Given the description of an element on the screen output the (x, y) to click on. 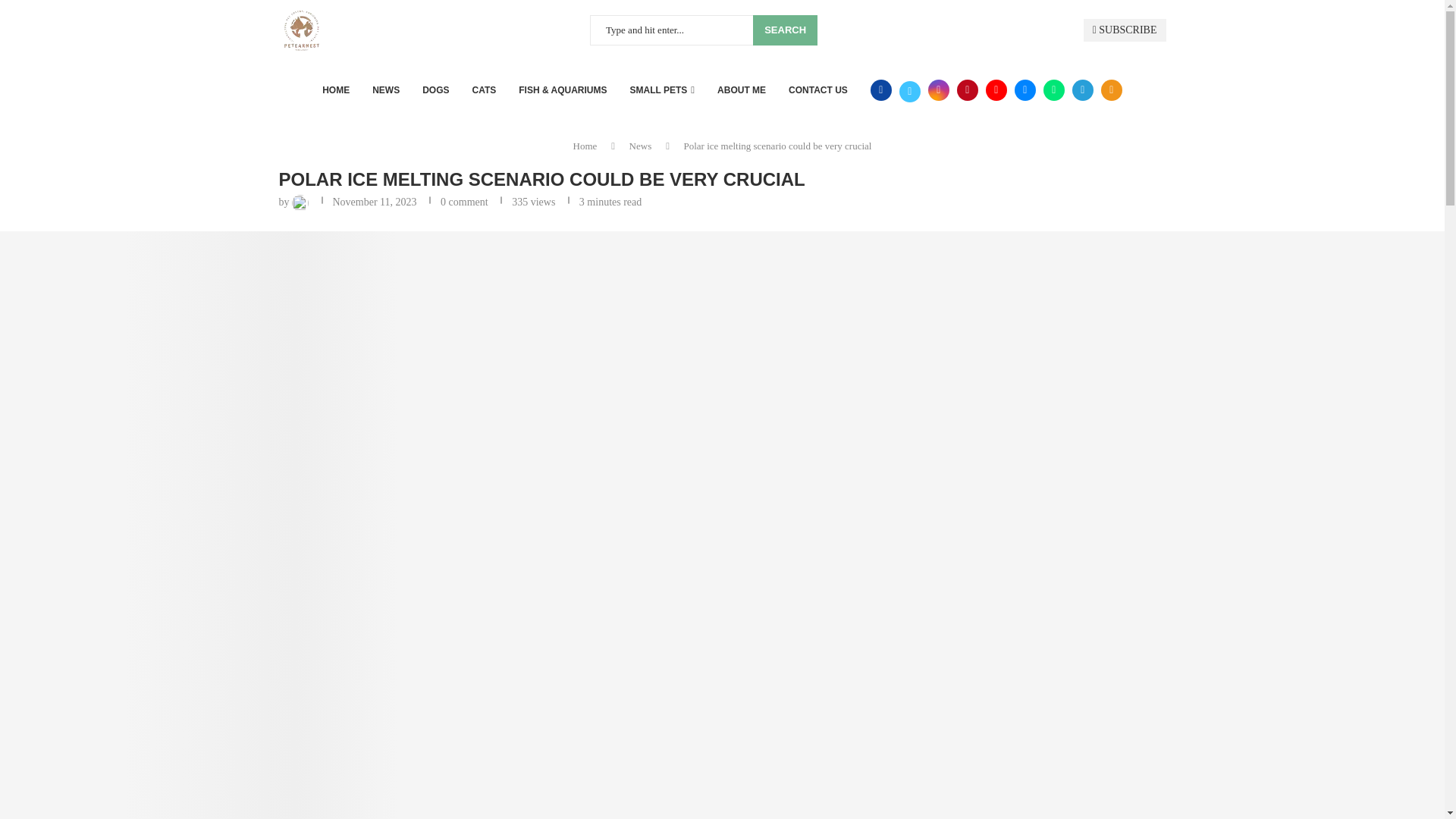
SUBSCRIBE (1124, 29)
SMALL PETS (662, 89)
SEARCH (784, 30)
